Given the description of an element on the screen output the (x, y) to click on. 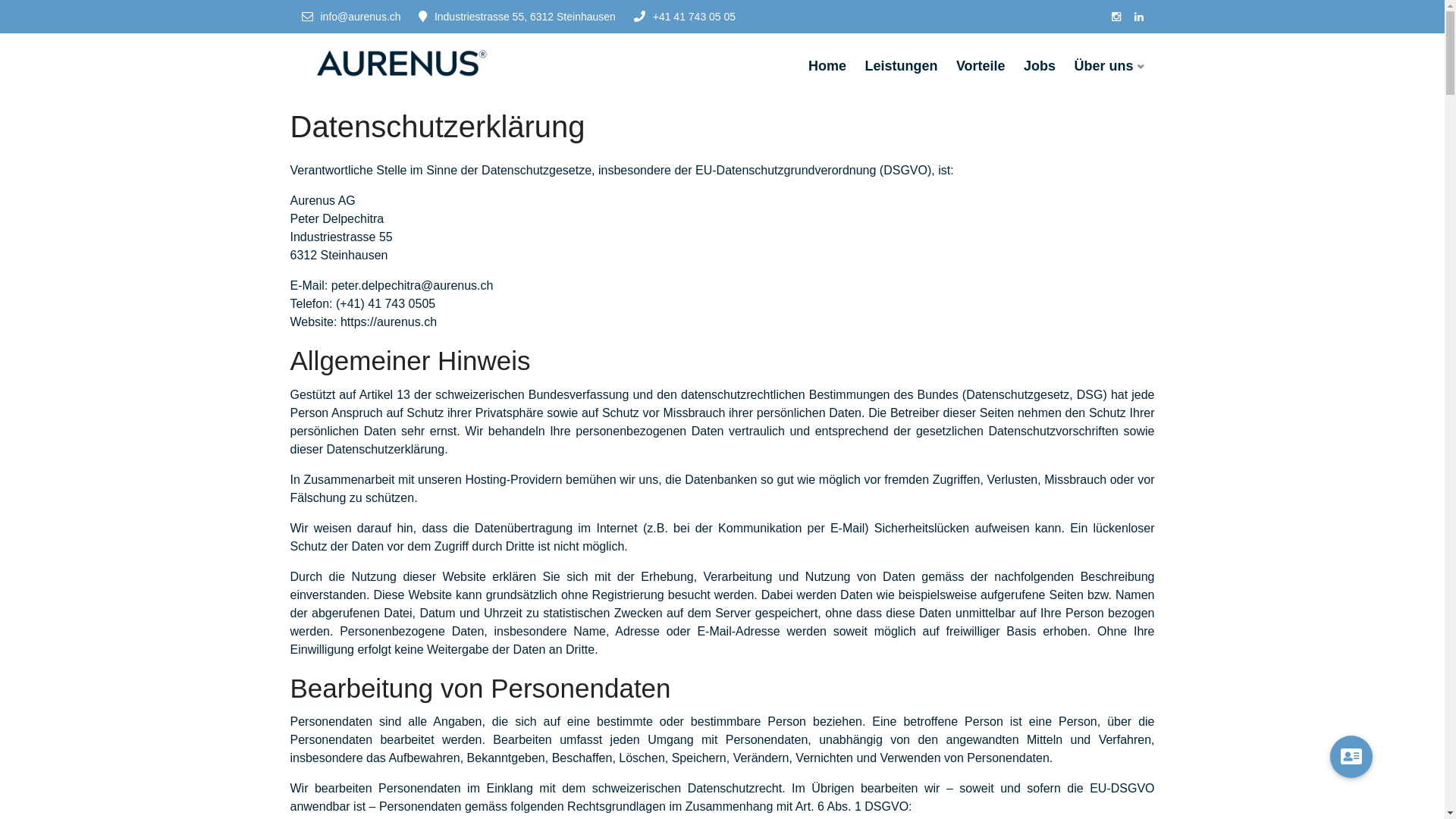
Home Element type: text (827, 66)
Jobs Element type: text (1039, 66)
Linkedin Element type: hover (1138, 17)
info@aurenus.ch Element type: text (351, 17)
Instagram Element type: hover (1115, 17)
+41 41 743 05 05 Element type: text (684, 17)
Vorteile Element type: text (980, 66)
Leistungen Element type: text (900, 66)
AURENUS Element type: hover (398, 62)
